Given the description of an element on the screen output the (x, y) to click on. 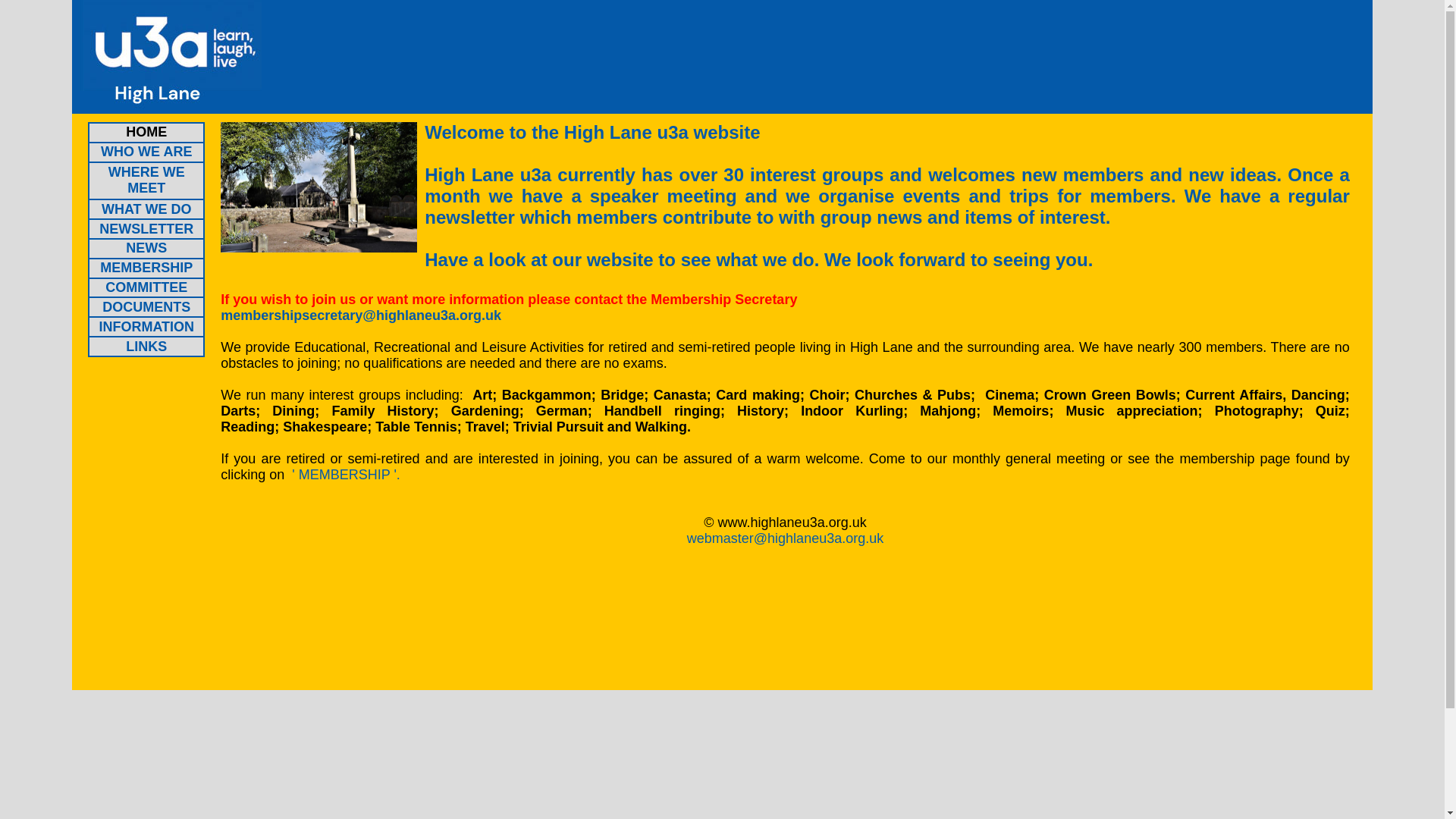
WHERE WE MEET (145, 179)
INFORMATION (146, 326)
LINKS (146, 346)
DOCUMENTS (145, 306)
NEWSLETTER (146, 228)
WHO WE ARE (146, 151)
WHAT WE DO (146, 209)
COMMITTEE (145, 287)
' MEMBERSHIP '. (346, 474)
MEMBERSHIP (146, 267)
NEWS (146, 247)
